Given the description of an element on the screen output the (x, y) to click on. 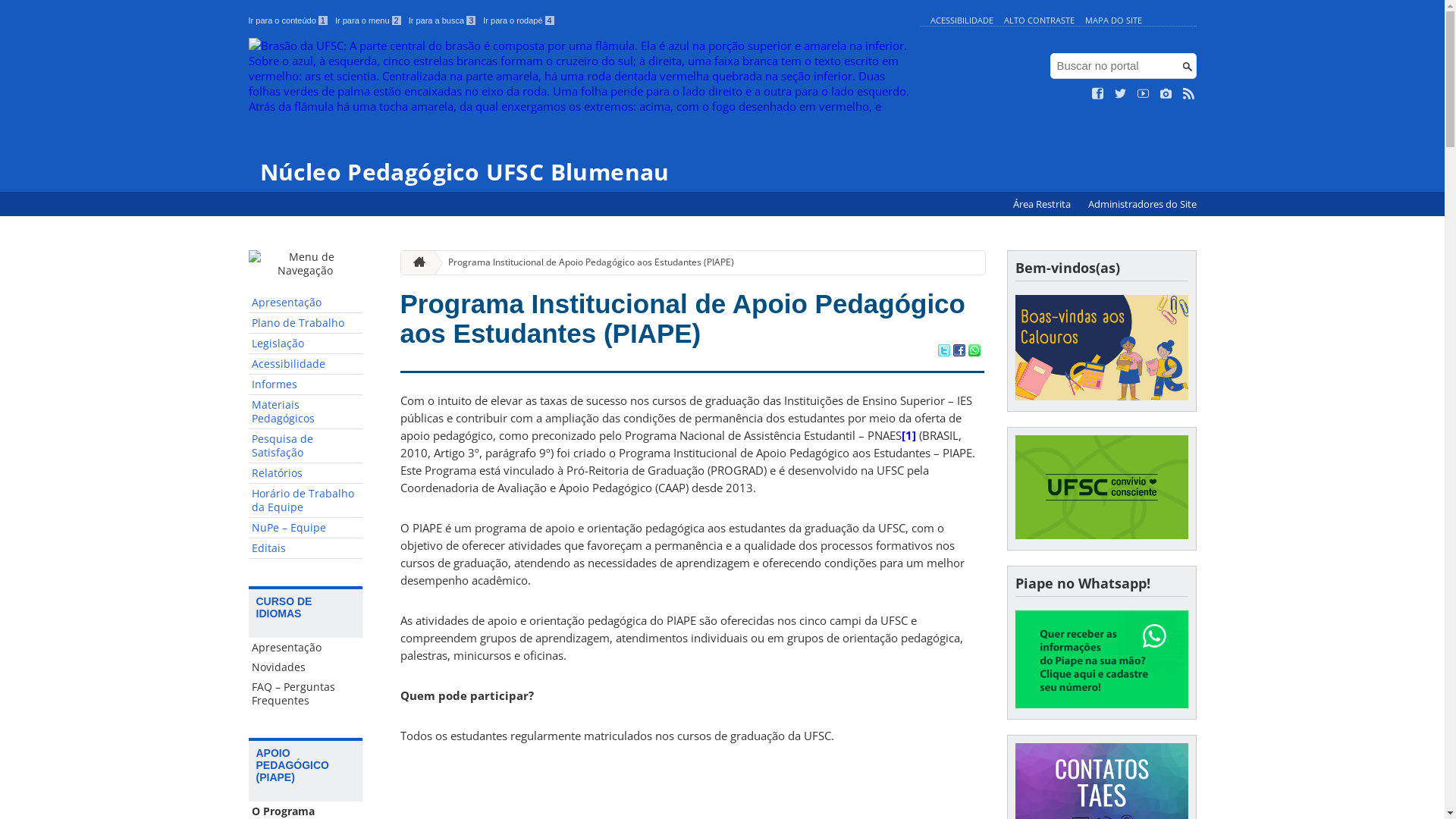
Ir para a busca 3 Element type: text (442, 20)
Compartilhar no Facebook Element type: hover (958, 351)
[1] Element type: text (907, 434)
Acessibilidade Element type: text (305, 364)
MAPA DO SITE Element type: text (1112, 19)
Editais Element type: text (305, 548)
Curta no Facebook Element type: hover (1098, 93)
ALTO CONTRASTE Element type: text (1039, 19)
Novidades Element type: text (305, 667)
Ir para o menu 2 Element type: text (368, 20)
Siga no Twitter Element type: hover (1120, 93)
Informes Element type: text (305, 384)
Administradores do Site Element type: text (1141, 203)
Veja no Instagram Element type: hover (1166, 93)
ACESSIBILIDADE Element type: text (960, 19)
Plano de Trabalho Element type: text (305, 323)
Compartilhar no Twitter Element type: hover (943, 351)
Compartilhar no WhatsApp Element type: hover (973, 351)
